Given the description of an element on the screen output the (x, y) to click on. 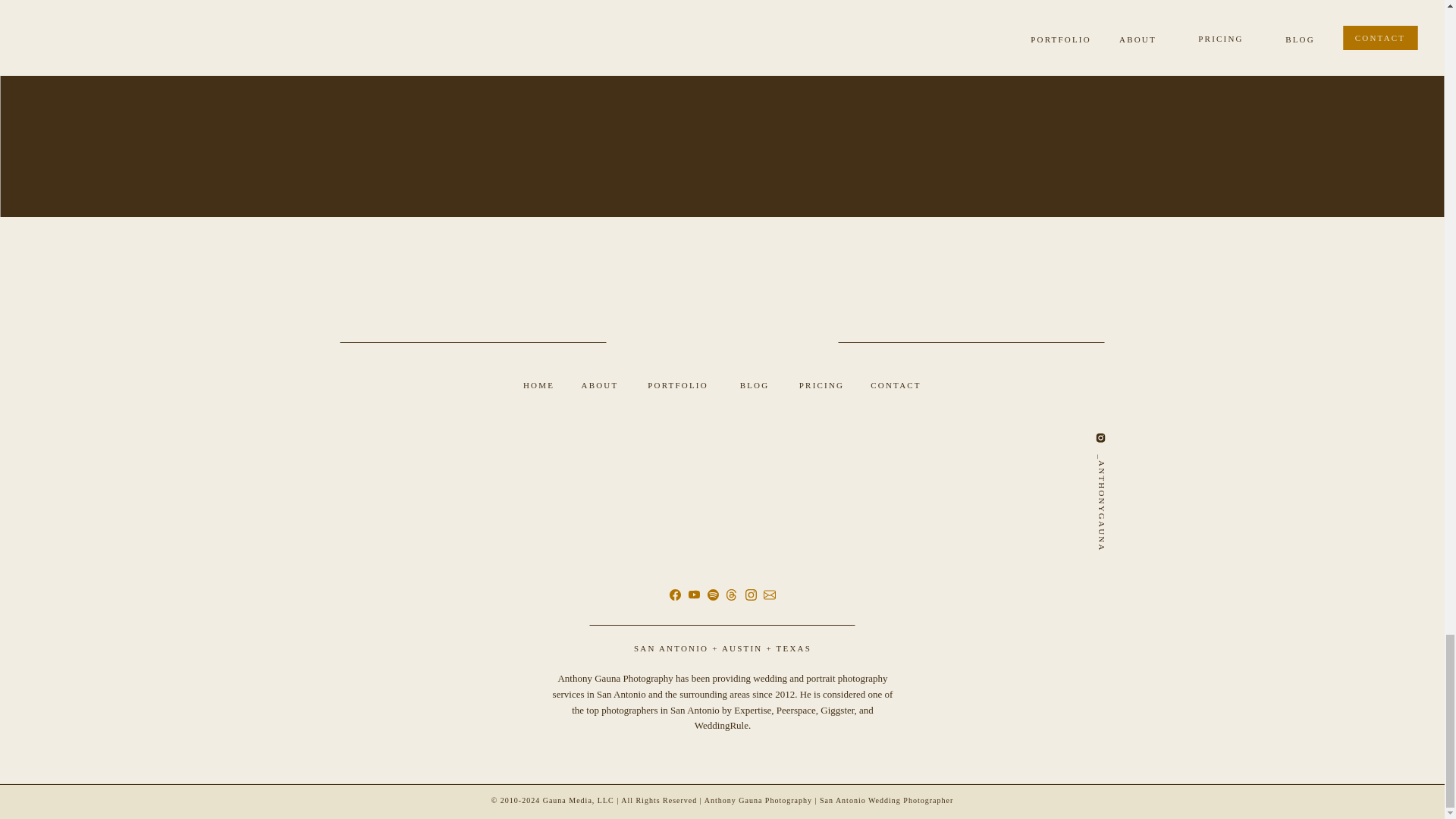
ABOUT (600, 385)
PRICING (821, 385)
CONTACT (895, 385)
HOME (537, 385)
INQUIRE (722, 42)
PORTFOLIO (677, 385)
